Given the description of an element on the screen output the (x, y) to click on. 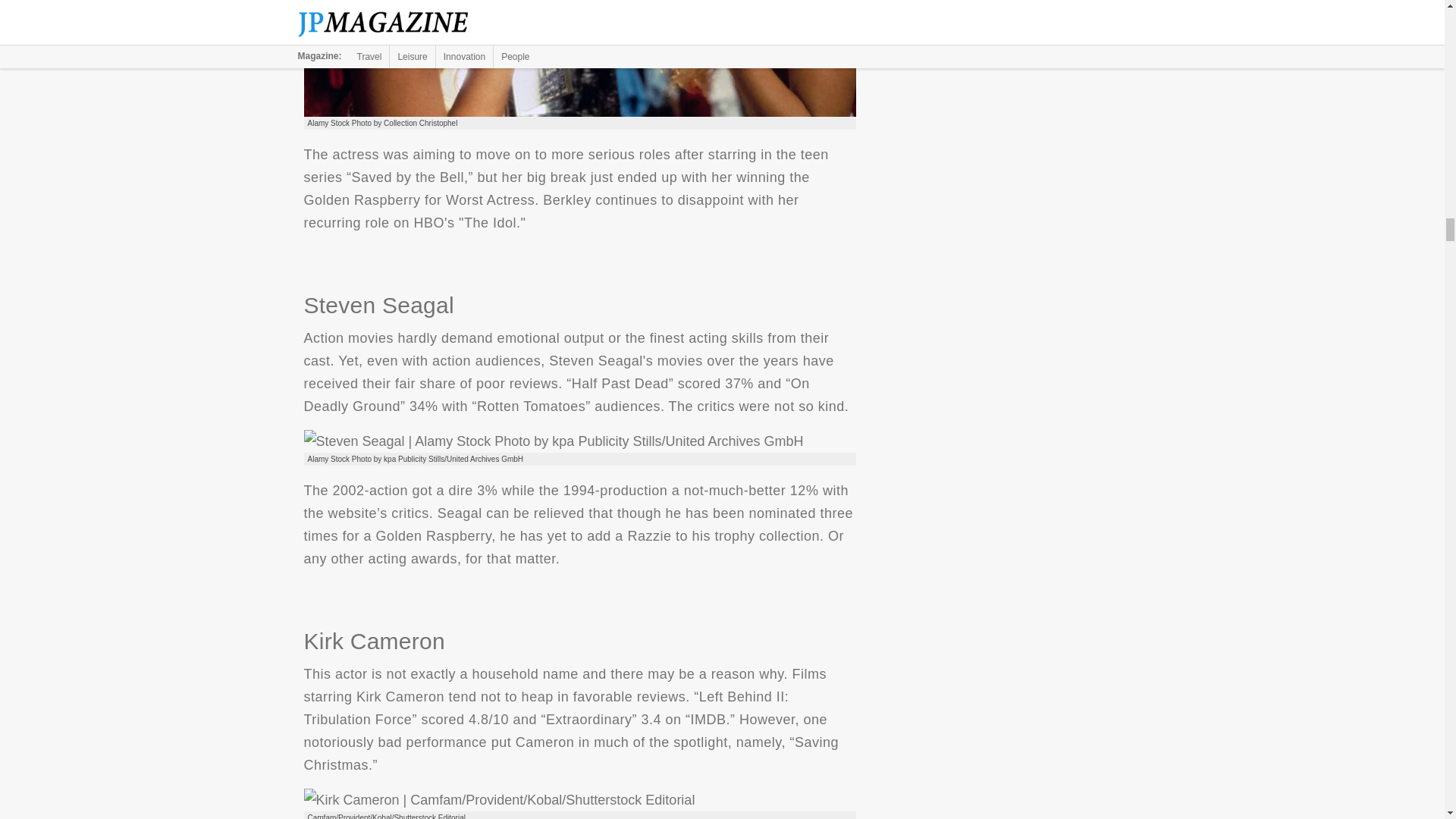
Kirk Cameron (498, 799)
Steven Seagal (552, 440)
Elizabeth Berkley (579, 58)
